Given the description of an element on the screen output the (x, y) to click on. 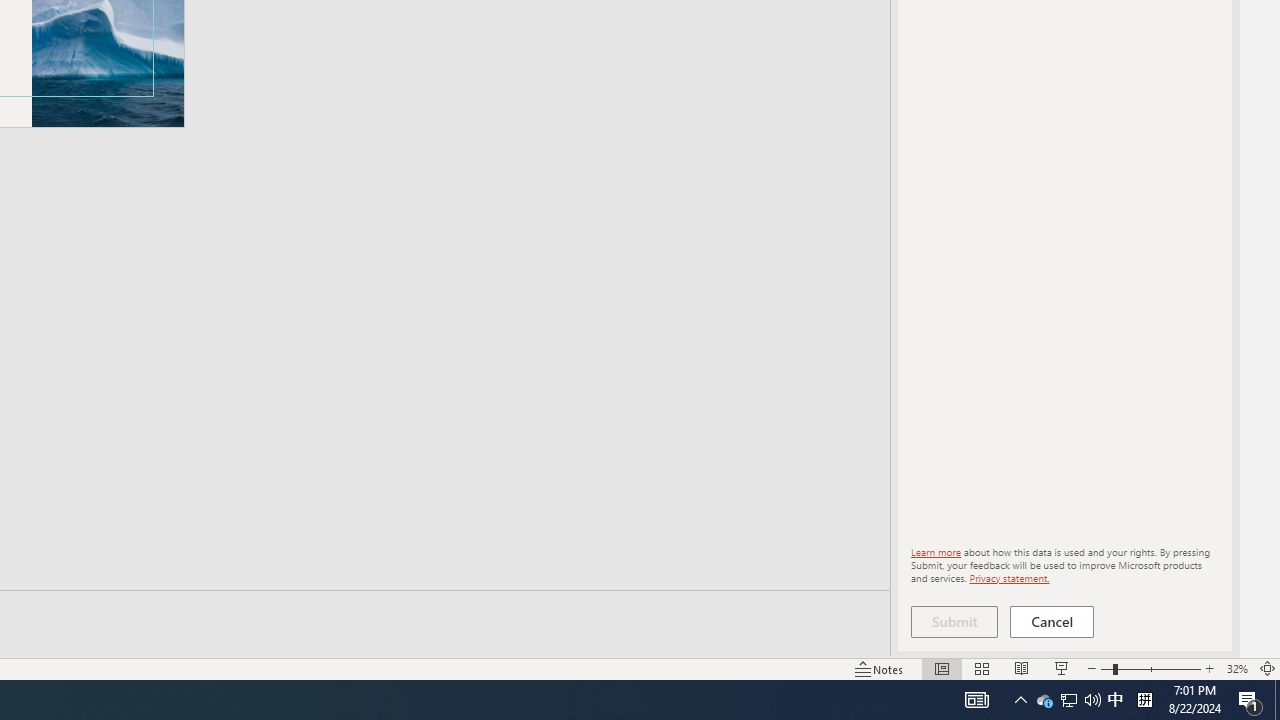
Cancel (1051, 621)
Learn more (936, 551)
Zoom 32% (1236, 668)
Submit (954, 621)
Privacy statement. (1008, 577)
